Given the description of an element on the screen output the (x, y) to click on. 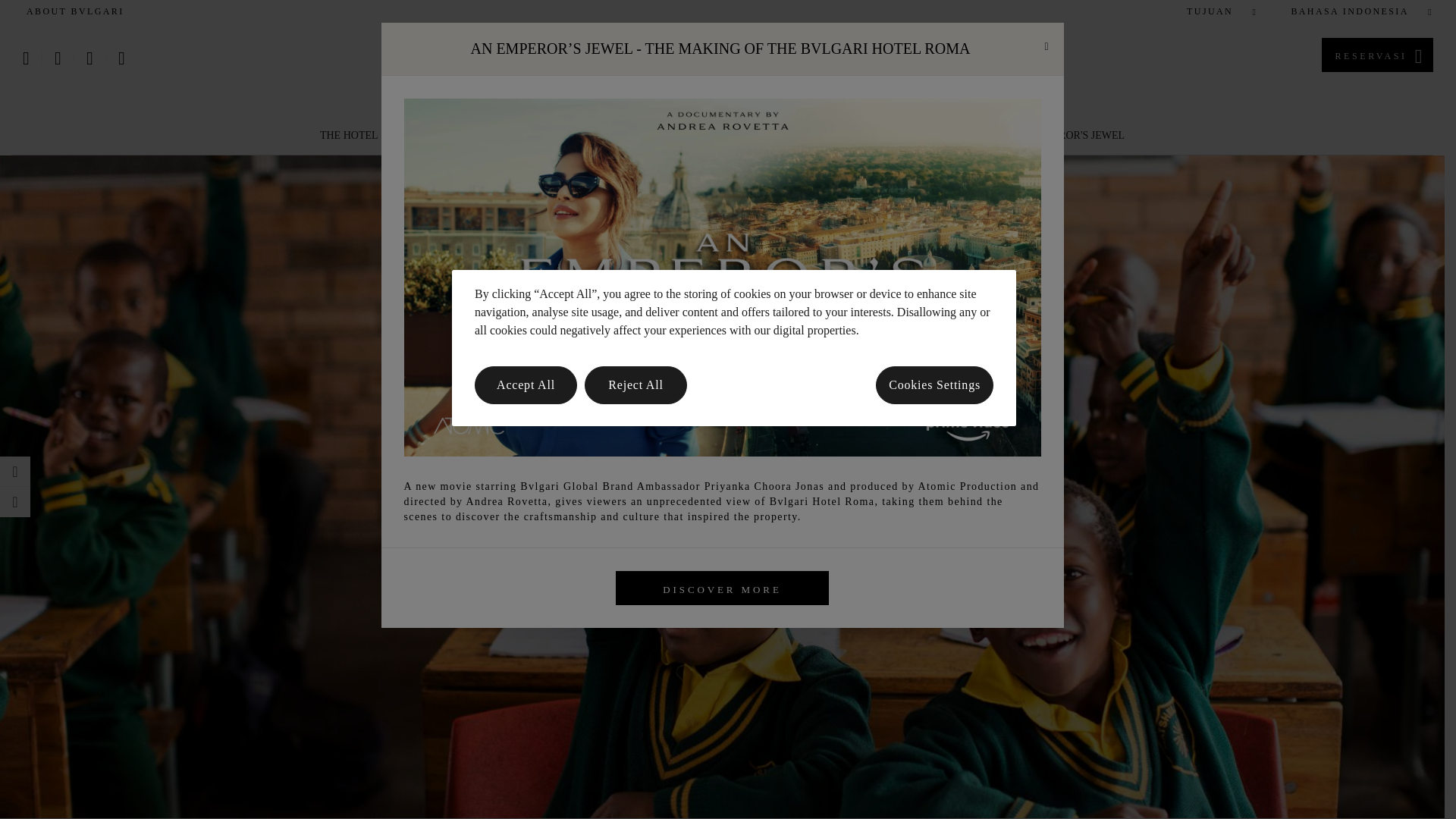
BAHASA INDONESIA (1353, 11)
TUJUAN (1214, 11)
Hubungi kami (89, 58)
WhatsApp (121, 58)
Kami akan menghubungi Anda (57, 58)
ABOUT BVLGARI (74, 11)
Lokasi (26, 57)
